Given the description of an element on the screen output the (x, y) to click on. 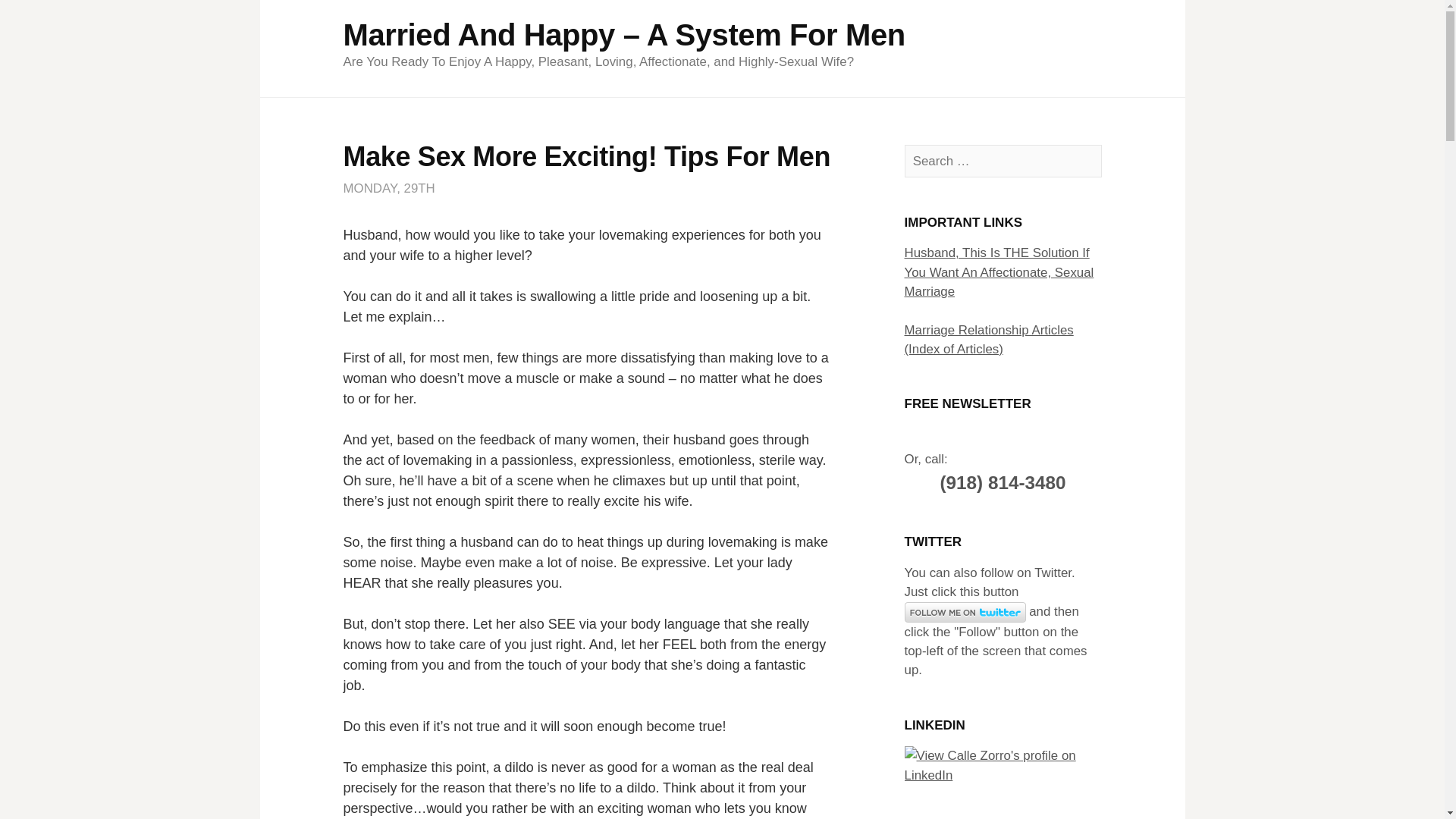
MONDAY, 29TH (387, 187)
Search (40, 16)
